Given the description of an element on the screen output the (x, y) to click on. 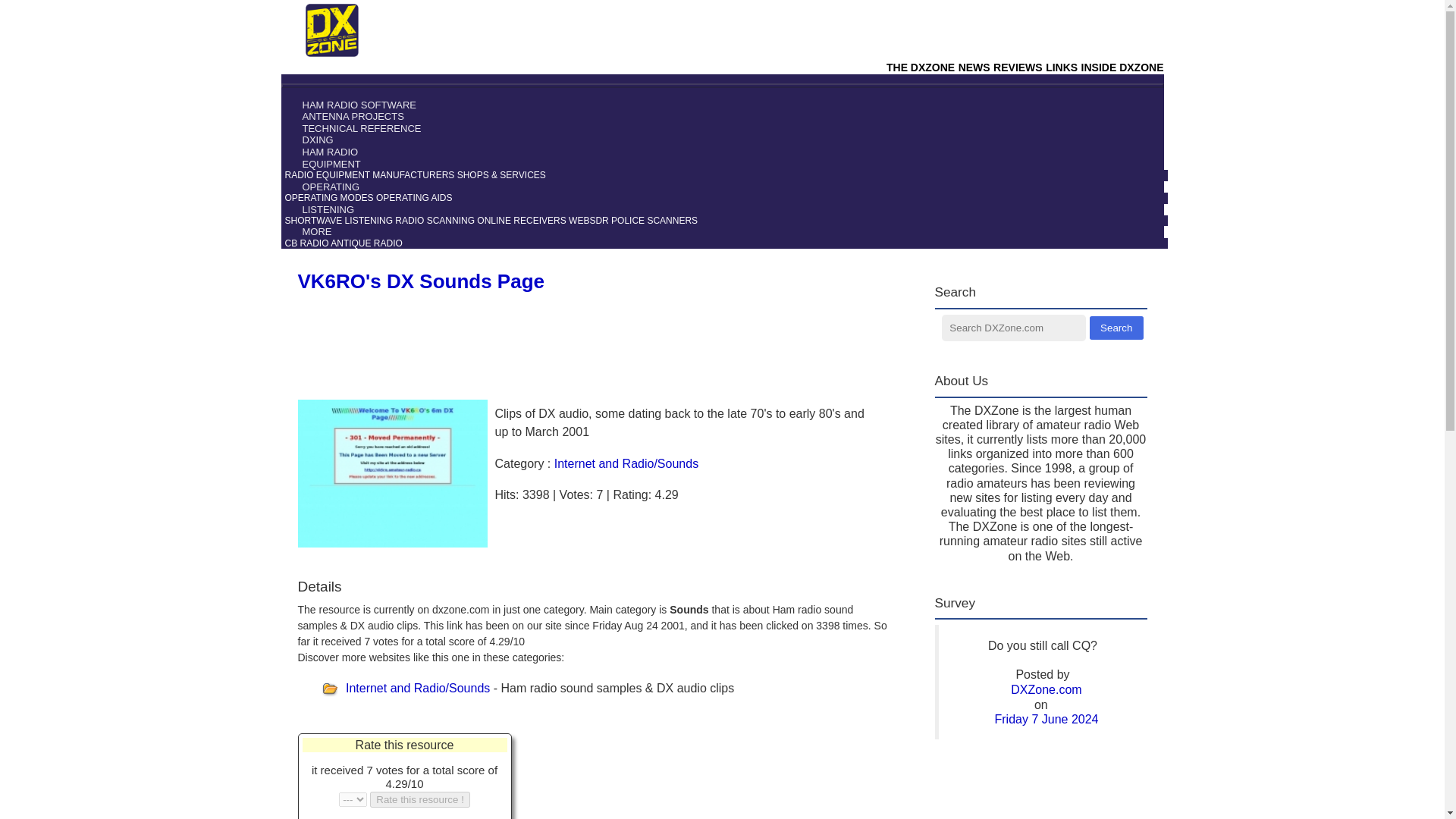
INSIDE DXZONE (1122, 67)
MANUFACTURERS (413, 174)
VK6RO's DX Sounds Page (420, 281)
Rate this resource ! (419, 799)
TECHNICAL REFERENCE (353, 128)
ANTENNA PROJECTS (344, 116)
HAM RADIO (321, 152)
LINKS (1061, 67)
HAM RADIO SOFTWARE (350, 104)
OPERATING MODES (329, 197)
THE DXZONE (920, 67)
OPERATING AIDS (413, 197)
Advertisement (680, 775)
EQUIPMENT (323, 163)
SHORTWAVE LISTENING (339, 220)
